Given the description of an element on the screen output the (x, y) to click on. 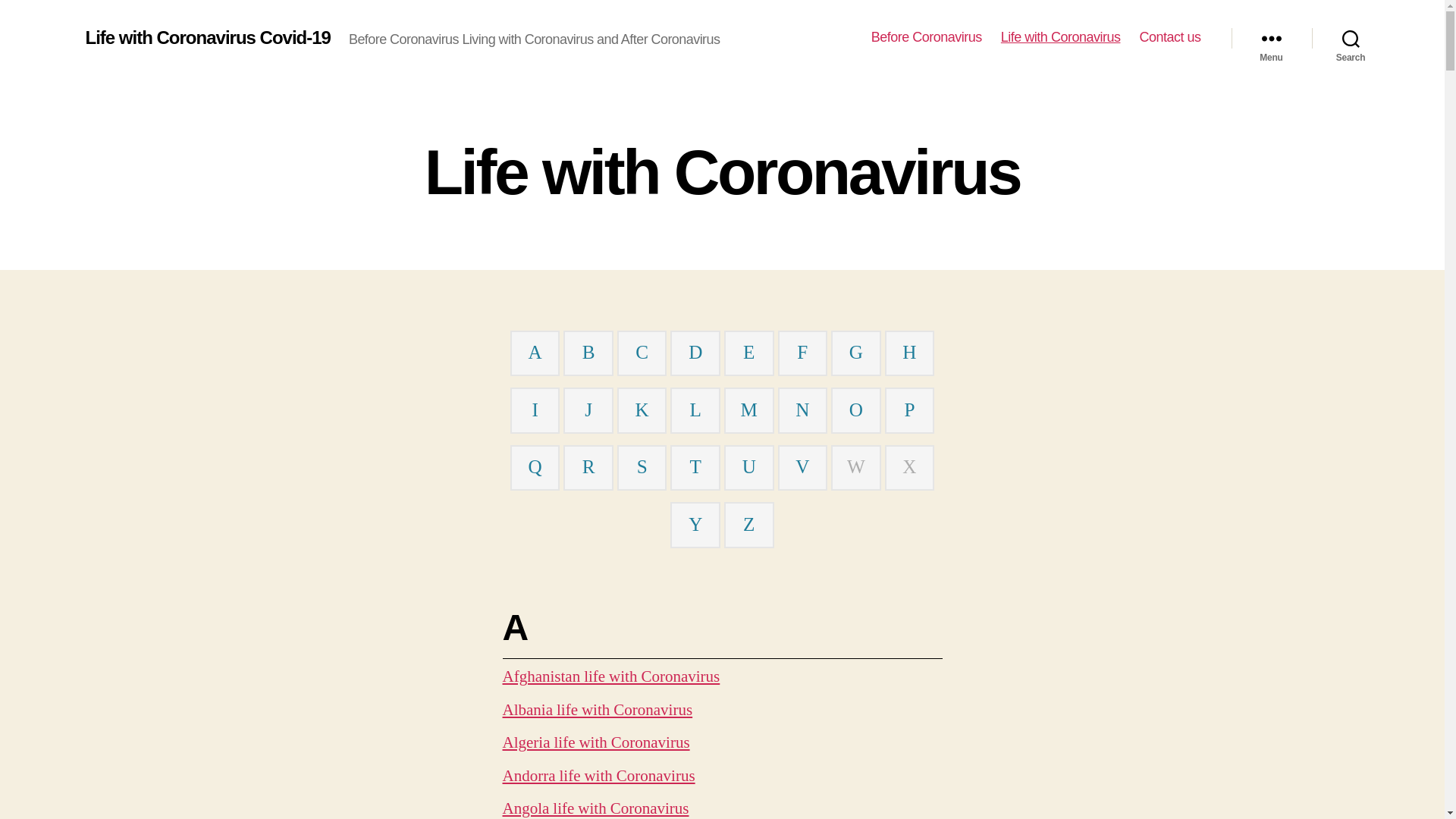
Algeria life with Coronavirus Element type: text (595, 742)
H Element type: text (909, 352)
O Element type: text (855, 410)
Y Element type: text (695, 525)
Albania life with Coronavirus Element type: text (597, 709)
I Element type: text (534, 410)
Z Element type: text (748, 525)
P Element type: text (908, 410)
M Element type: text (748, 410)
V Element type: text (802, 467)
K Element type: text (642, 410)
L Element type: text (695, 410)
G Element type: text (855, 352)
Before Coronavirus Element type: text (926, 37)
A Element type: text (534, 352)
U Element type: text (749, 467)
T Element type: text (695, 467)
Q Element type: text (534, 467)
F Element type: text (802, 352)
D Element type: text (695, 352)
Menu Element type: text (1271, 37)
Andorra life with Coronavirus Element type: text (598, 775)
J Element type: text (588, 410)
Afghanistan life with Coronavirus Element type: text (610, 676)
N Element type: text (802, 410)
Contact us Element type: text (1169, 37)
Search Element type: text (1350, 37)
Life with Coronavirus Element type: text (1060, 37)
R Element type: text (588, 467)
C Element type: text (641, 352)
Life with Coronavirus Covid-19 Element type: text (206, 37)
E Element type: text (748, 352)
S Element type: text (642, 467)
B Element type: text (588, 352)
